Given the description of an element on the screen output the (x, y) to click on. 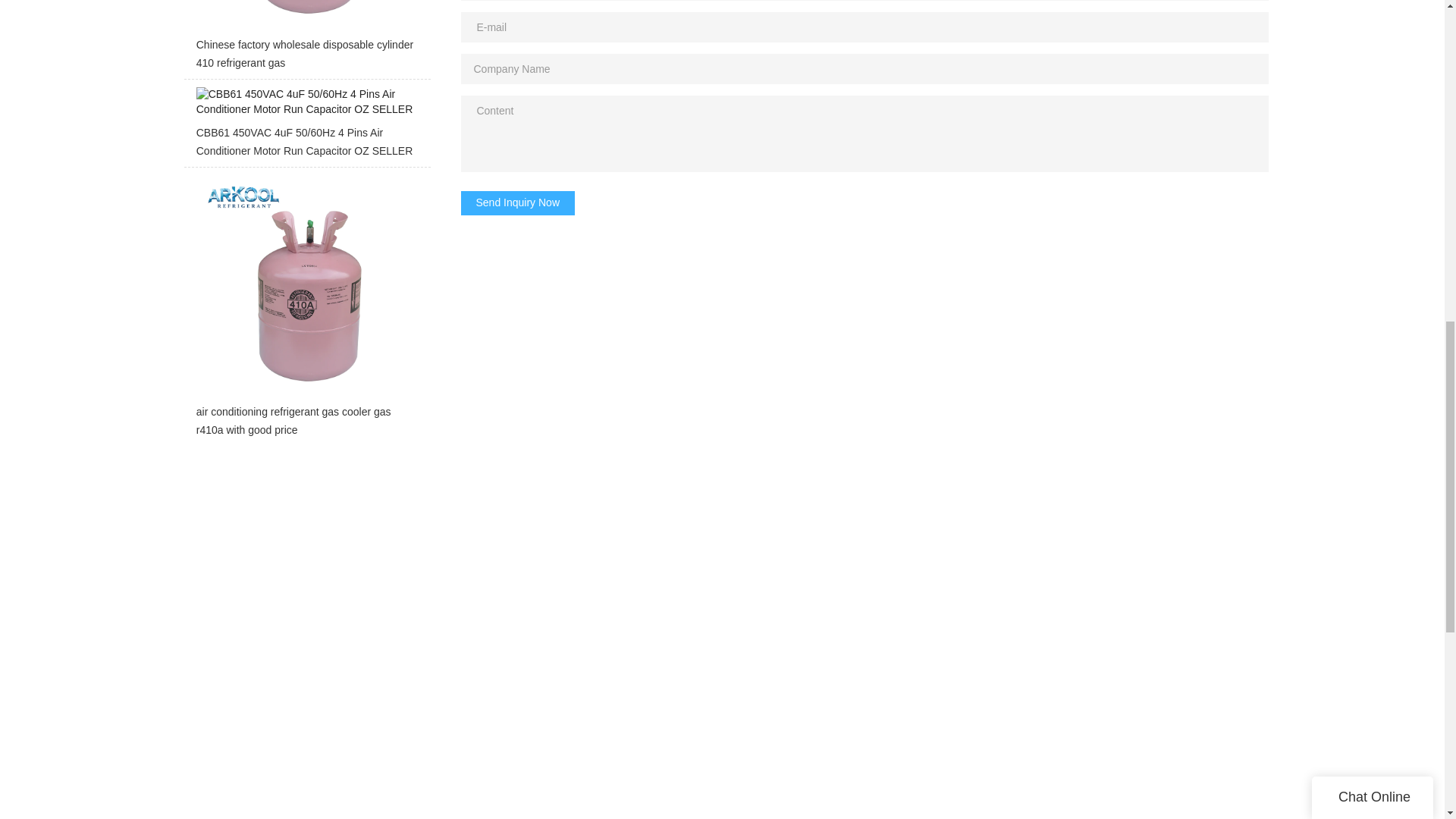
Send Inquiry Now (518, 202)
